Given the description of an element on the screen output the (x, y) to click on. 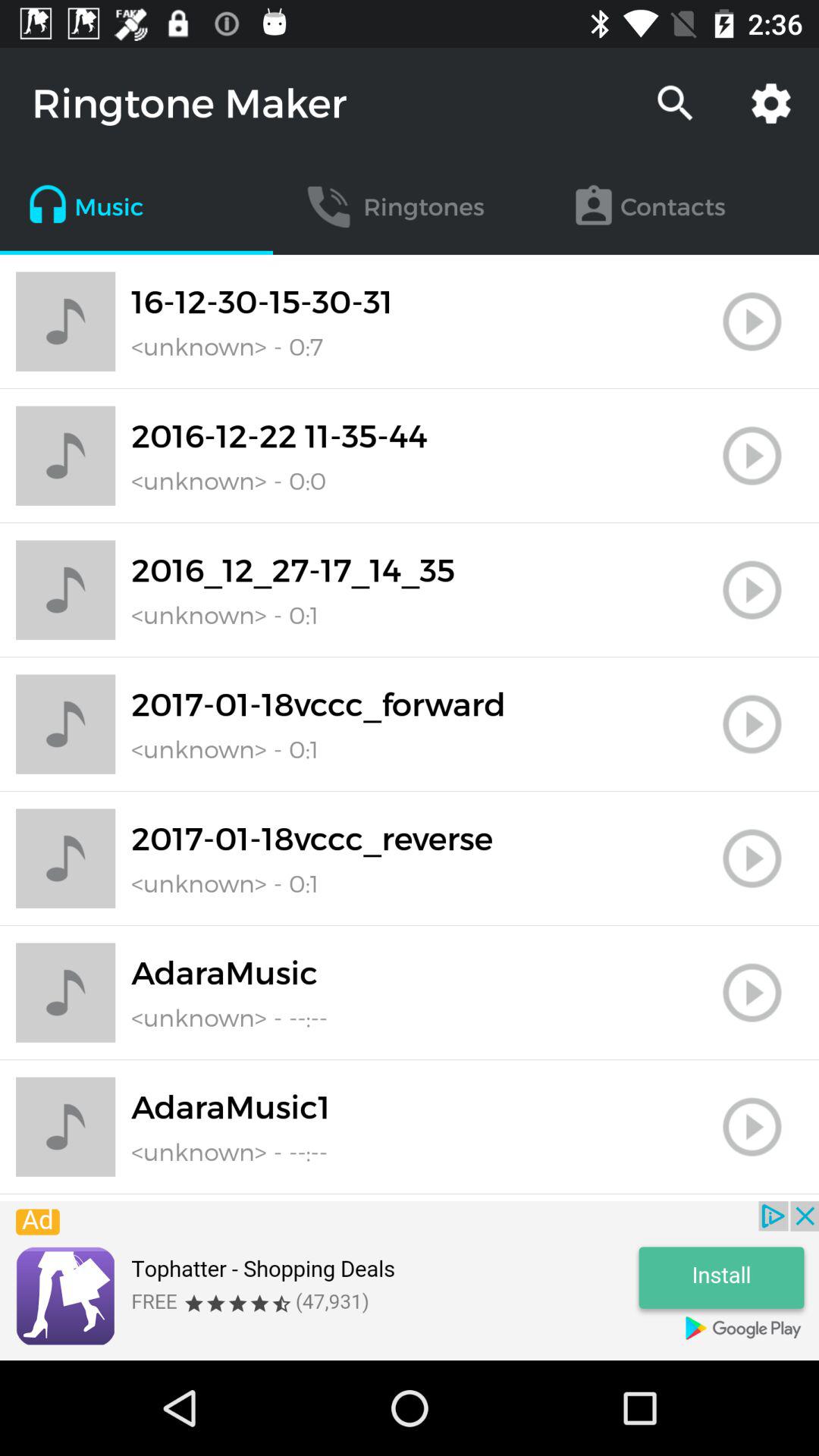
play the audio (752, 724)
